Given the description of an element on the screen output the (x, y) to click on. 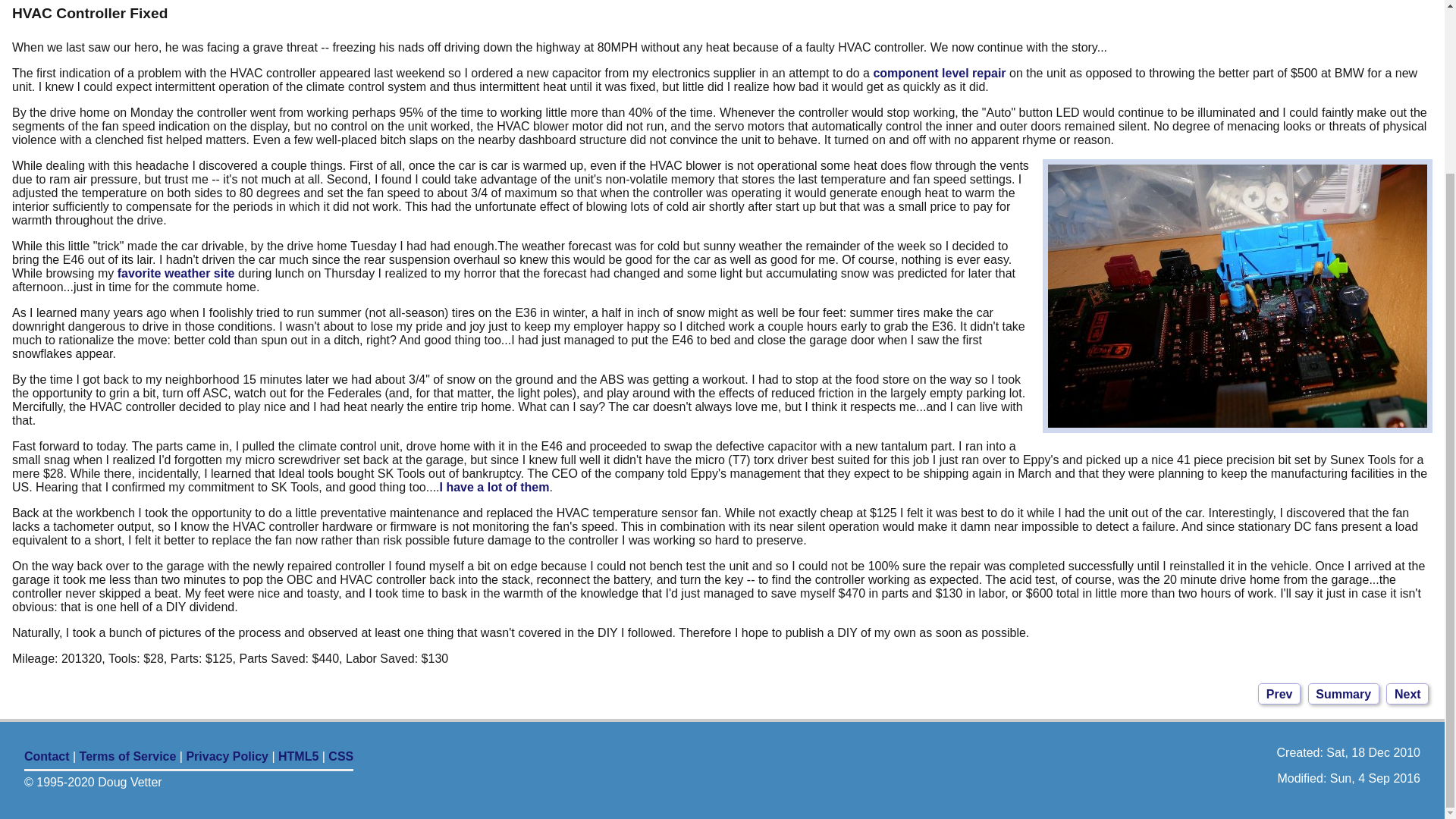
Prev (1278, 694)
Next (1407, 694)
Summary (1342, 694)
I have a lot of them (494, 486)
Contact (46, 756)
component level repair (939, 72)
favorite weather site (175, 273)
